Given the description of an element on the screen output the (x, y) to click on. 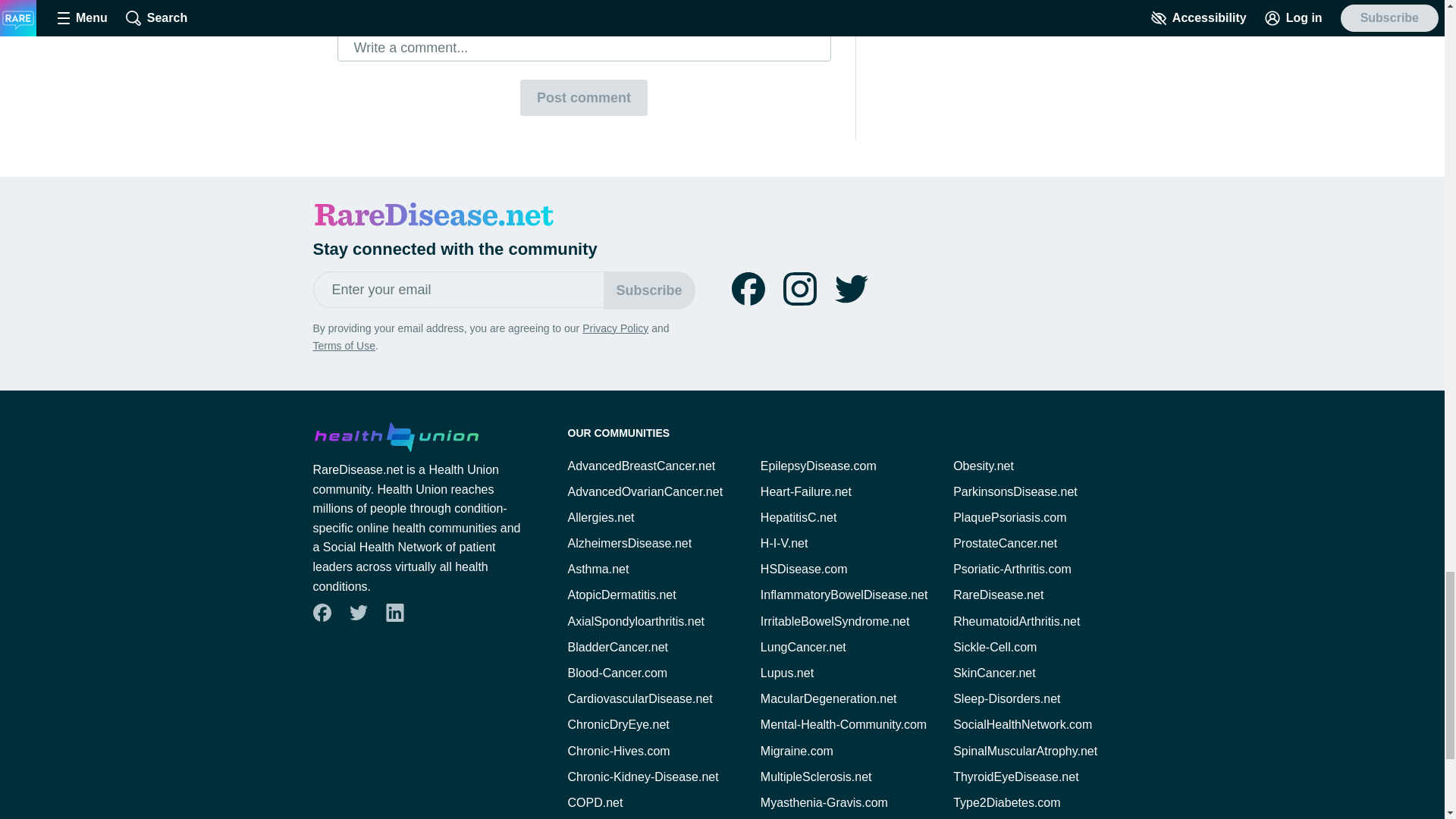
Follow us on twitter (850, 288)
read our rules (541, 7)
Terms of Use (343, 345)
Follow us on instagram (799, 288)
Privacy Policy (614, 328)
Subscribe (649, 290)
Follow us on instagram (799, 288)
Follow us on facebook (320, 612)
Post comment (583, 97)
Follow us on facebook (747, 288)
